Given the description of an element on the screen output the (x, y) to click on. 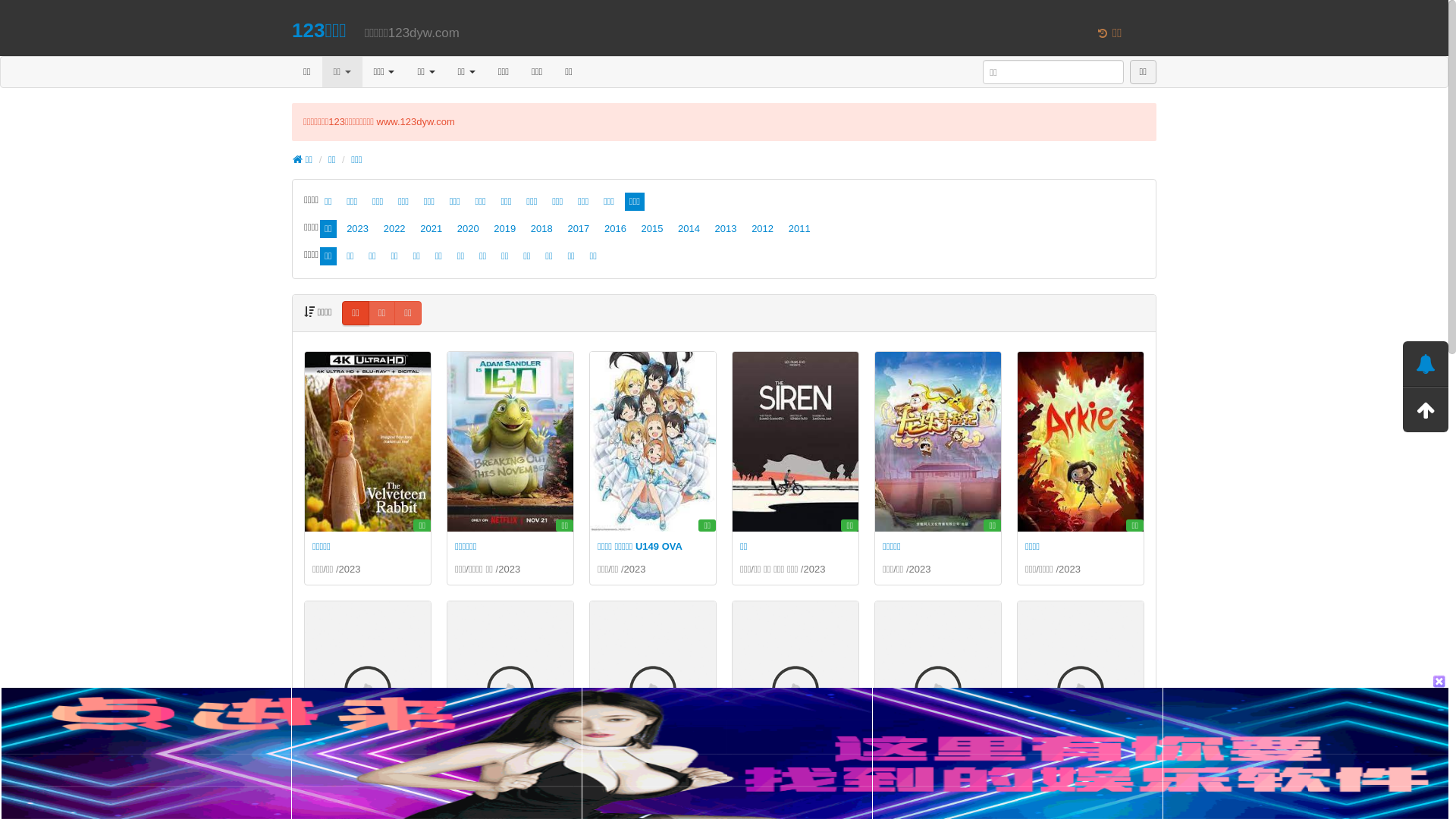
2023 Element type: text (1069, 568)
2023 Element type: text (635, 568)
2019 Element type: text (504, 228)
2023 Element type: text (509, 568)
2022 Element type: text (394, 228)
2021 Element type: text (431, 228)
2011 Element type: text (799, 228)
2015 Element type: text (652, 228)
2023 Element type: text (349, 568)
2023 Element type: text (357, 228)
2023 Element type: text (920, 568)
2014 Element type: text (688, 228)
2020 Element type: text (468, 228)
2023 Element type: text (814, 568)
2018 Element type: text (541, 228)
2017 Element type: text (578, 228)
2013 Element type: text (726, 228)
2012 Element type: text (762, 228)
2016 Element type: text (615, 228)
